Given the description of an element on the screen output the (x, y) to click on. 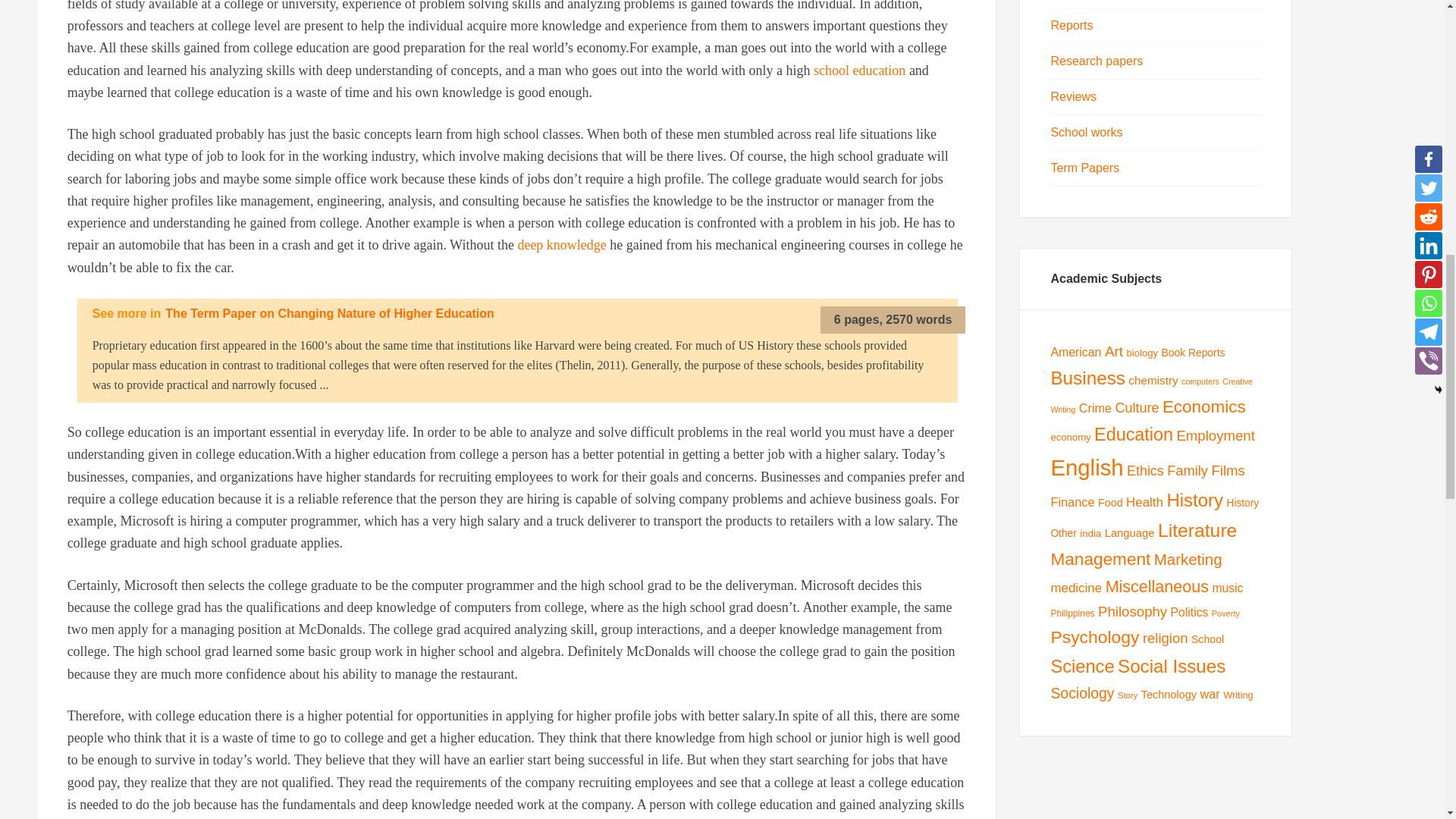
school education (859, 70)
The Essay on fuure (560, 244)
The Essay on Sex Education School Schools Sexuality (859, 70)
The Term Paper on Changing Nature of Higher Education (330, 313)
deep knowledge (560, 244)
